Given the description of an element on the screen output the (x, y) to click on. 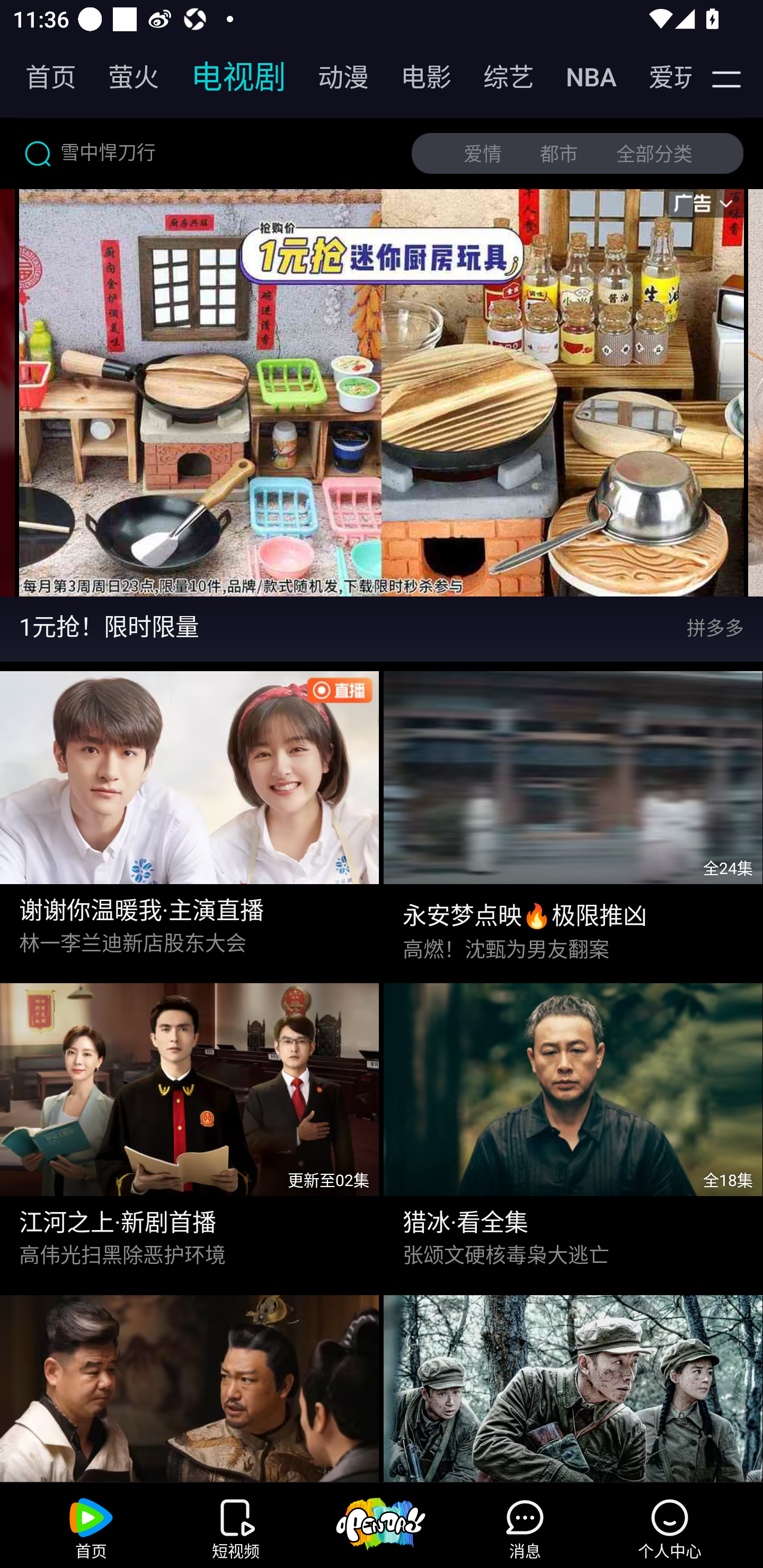
首页 (41, 77)
萤火 (123, 77)
电视剧 (228, 77)
动漫 (333, 77)
电影 (416, 77)
综艺 (498, 77)
NBA (581, 77)
爱玩 (657, 77)
雪中悍刀行 (207, 152)
爱情 (482, 153)
都市 (559, 153)
全部分类 (654, 153)
1元抢！限时限量 1元抢！限时限量，链接 拼多多 (381, 628)
拼多多 (724, 628)
谢谢你温暖我·主演直播,链接 谢谢你温暖我·主演直播 林一李兰迪新店股东大会 (189, 817)
永安梦点映🔥极限推凶,全24集,链接 永安梦点映🔥极限推凶 高燃！沈甄为男友翻案 (572, 817)
江河之上·新剧首播,更新至02集,链接 江河之上·新剧首播 高伟光扫黑除恶护环境 (189, 1129)
猎冰·看全集,全18集,链接 猎冰·看全集 张颂文硬核毒枭大逃亡 (572, 1129)
欢乐英雄·更新,更新至16集,链接 (189, 1383)
侦察英雄,全32集,链接 (572, 1383)
